Given the description of an element on the screen output the (x, y) to click on. 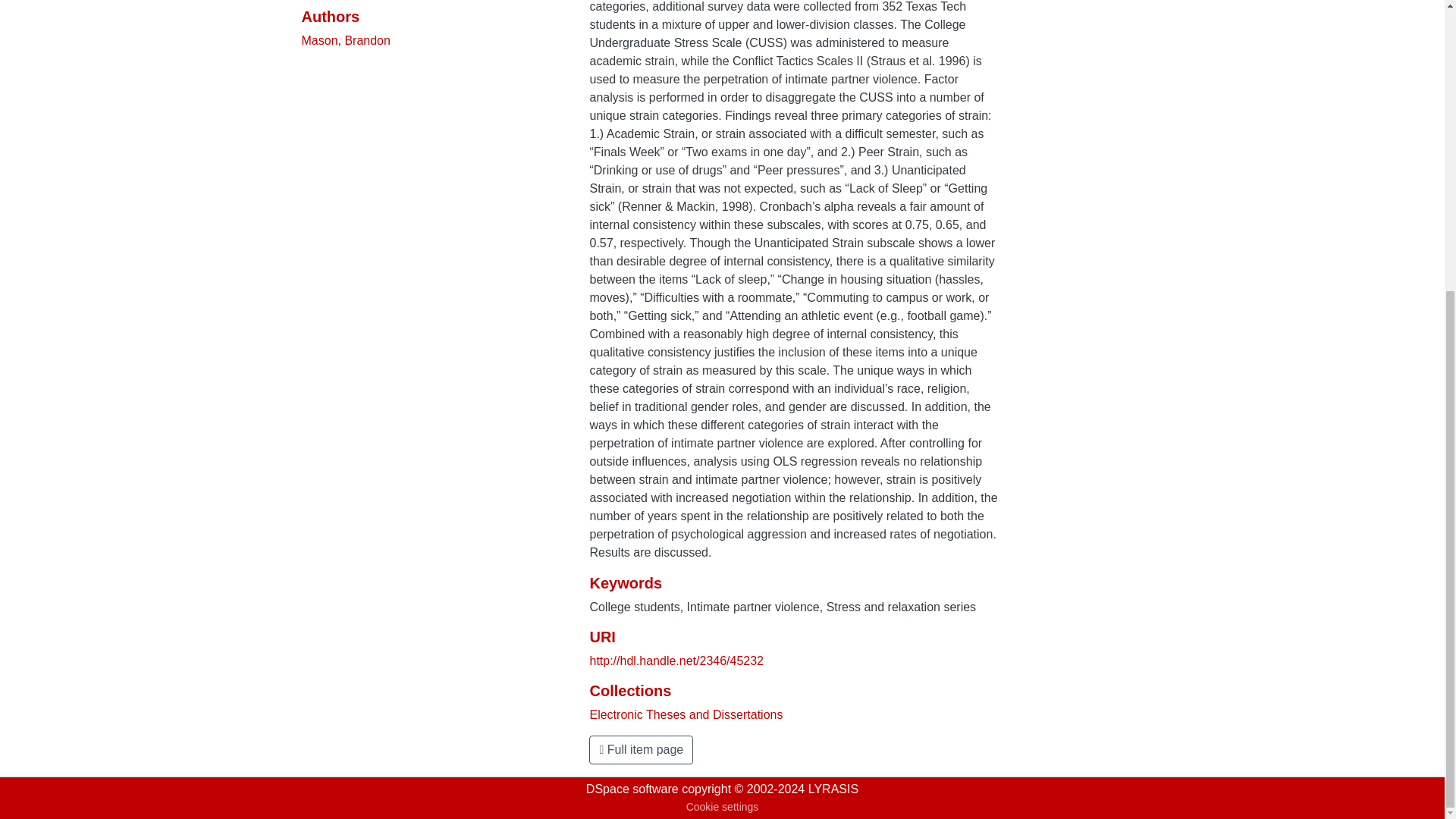
LYRASIS (833, 788)
Electronic Theses and Dissertations (686, 714)
Mason, Brandon (345, 40)
Cookie settings (722, 806)
DSpace software (632, 788)
Full item page (641, 749)
